Given the description of an element on the screen output the (x, y) to click on. 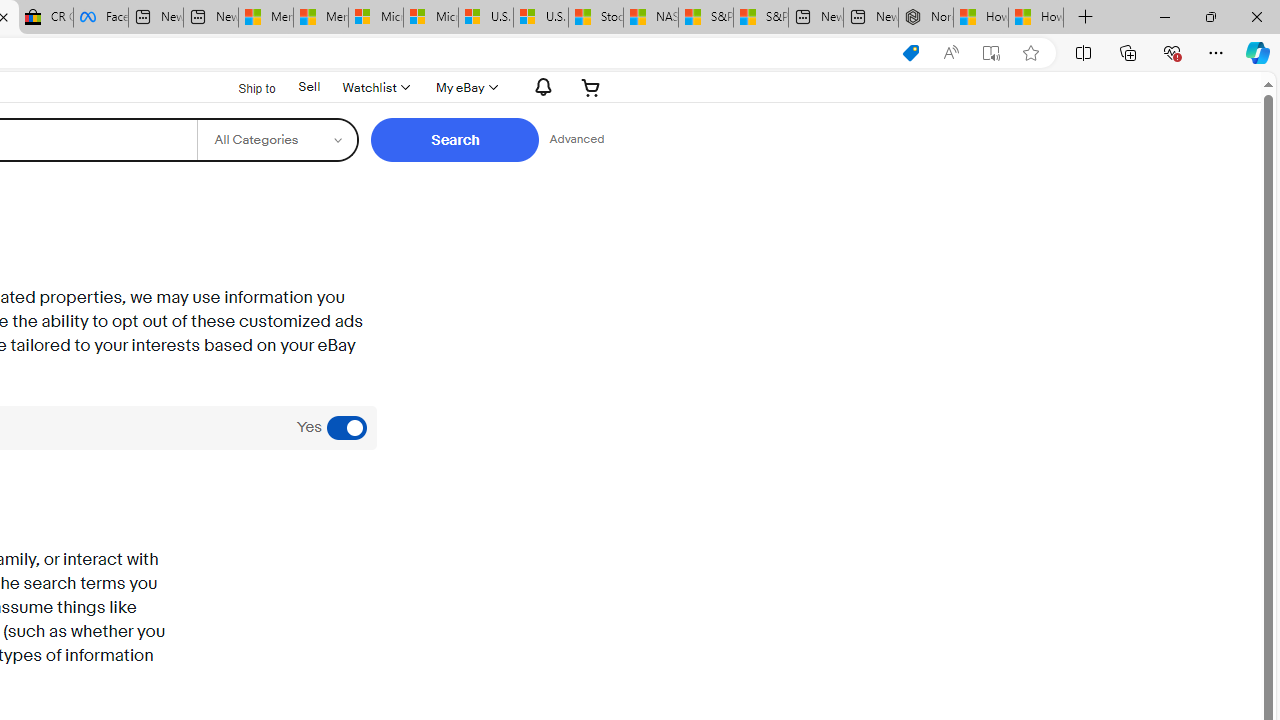
Watchlist (374, 87)
Expand Cart (591, 87)
Ship to (244, 85)
My eBay (464, 87)
